Given the description of an element on the screen output the (x, y) to click on. 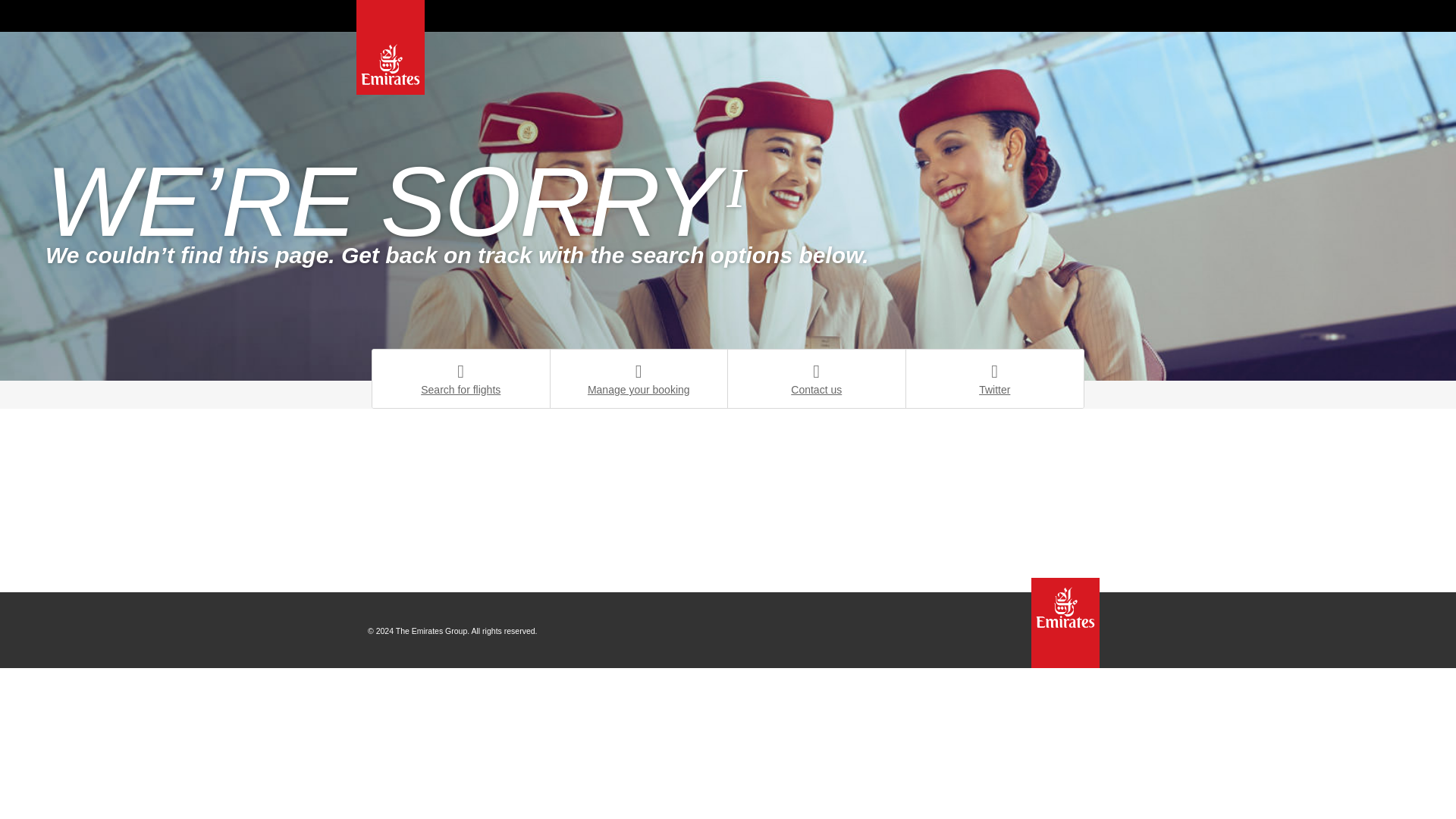
Contact us (816, 378)
Search for flights (461, 378)
Manage your booking (639, 378)
Twitter (994, 378)
